Given the description of an element on the screen output the (x, y) to click on. 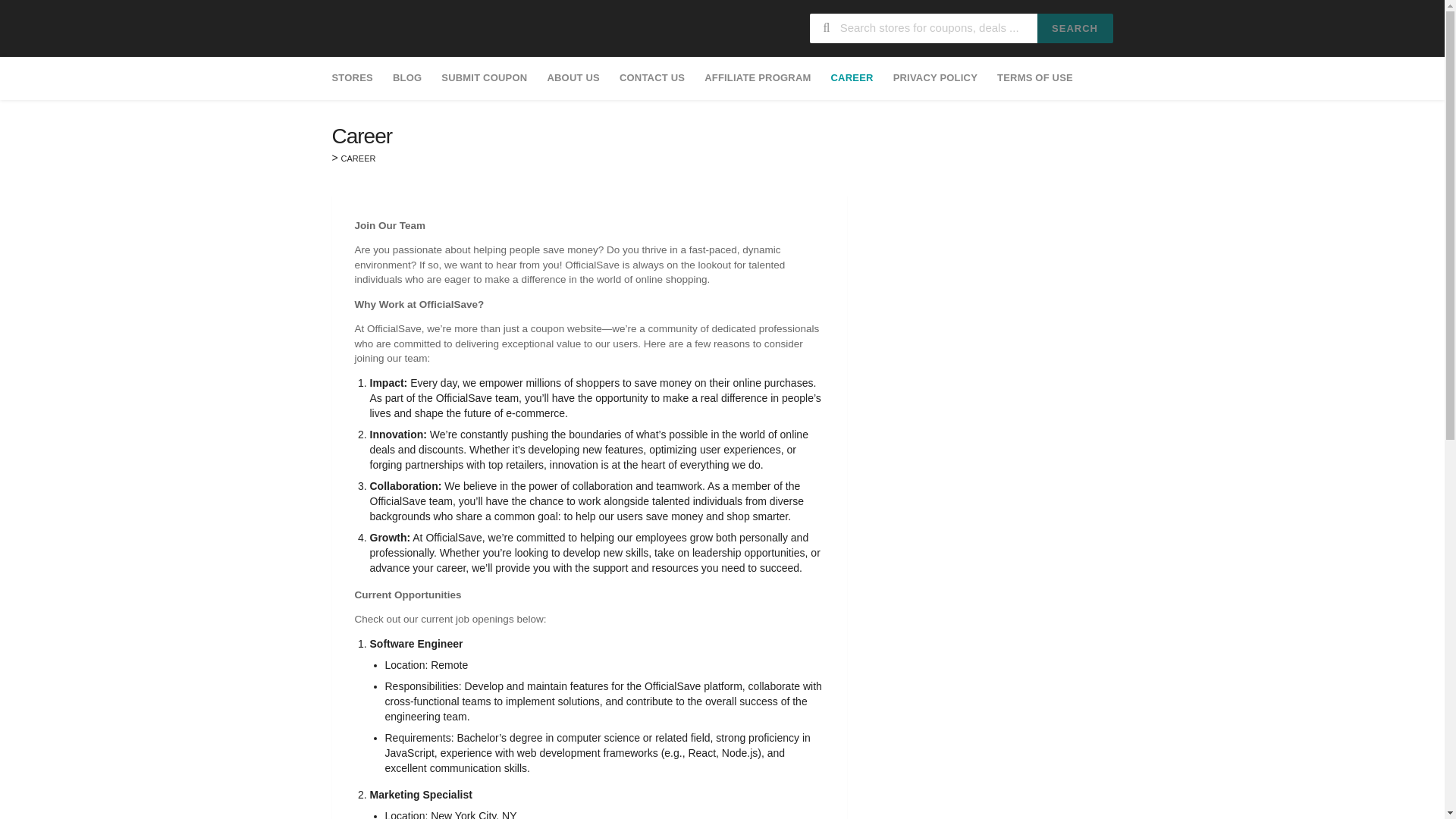
BLOG (406, 77)
SEARCH (1074, 28)
TERMS OF USE (1035, 77)
ABOUT US (573, 77)
PRIVACY POLICY (935, 77)
CONTACT US (652, 77)
STORES (356, 77)
CAREER (852, 77)
AFFILIATE PROGRAM (757, 77)
SUBMIT COUPON (483, 77)
